Given the description of an element on the screen output the (x, y) to click on. 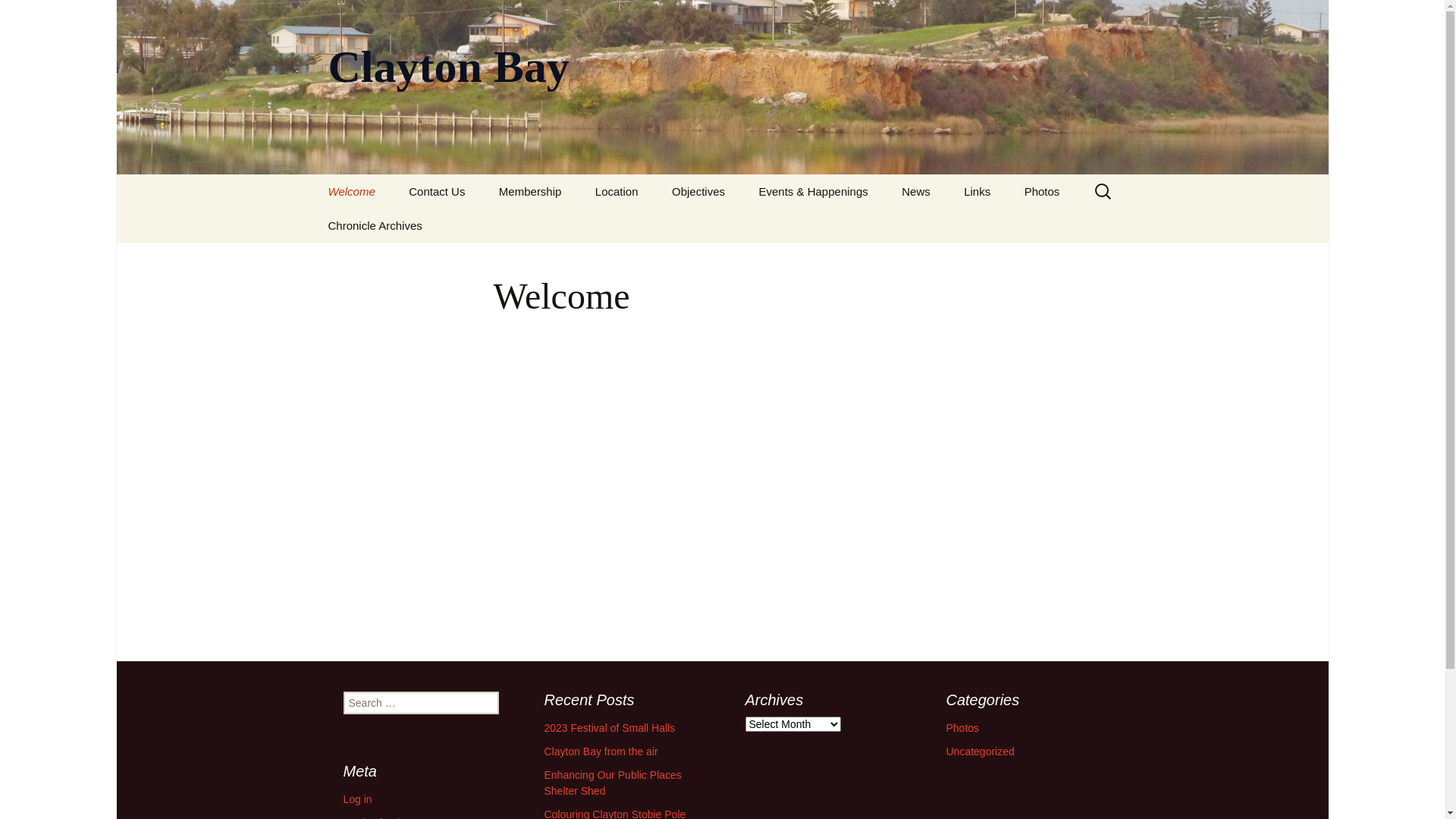
Search Element type: text (34, 15)
Uncategorized Element type: text (980, 751)
CLAYTON BAY MAY 2018 4 K Element type: hover (721, 471)
Photos Element type: text (1042, 191)
Clayton Bay from the air Element type: text (601, 751)
Welcome Element type: text (350, 191)
Enhancing Our Public Places Shelter Shed Element type: text (612, 782)
Log in Element type: text (356, 799)
Clayton Bay Element type: text (721, 87)
Photos Element type: text (962, 727)
Location Element type: text (616, 191)
Search Element type: text (18, 15)
Contact Us Element type: text (436, 191)
Membership Element type: text (530, 191)
Objectives Element type: text (698, 191)
Events & Happenings Element type: text (812, 191)
News Element type: text (915, 191)
Skip to content Element type: text (312, 173)
Chronicle Archives Element type: text (374, 225)
Links Element type: text (976, 191)
2023 Festival of Small Halls Element type: text (609, 727)
